Given the description of an element on the screen output the (x, y) to click on. 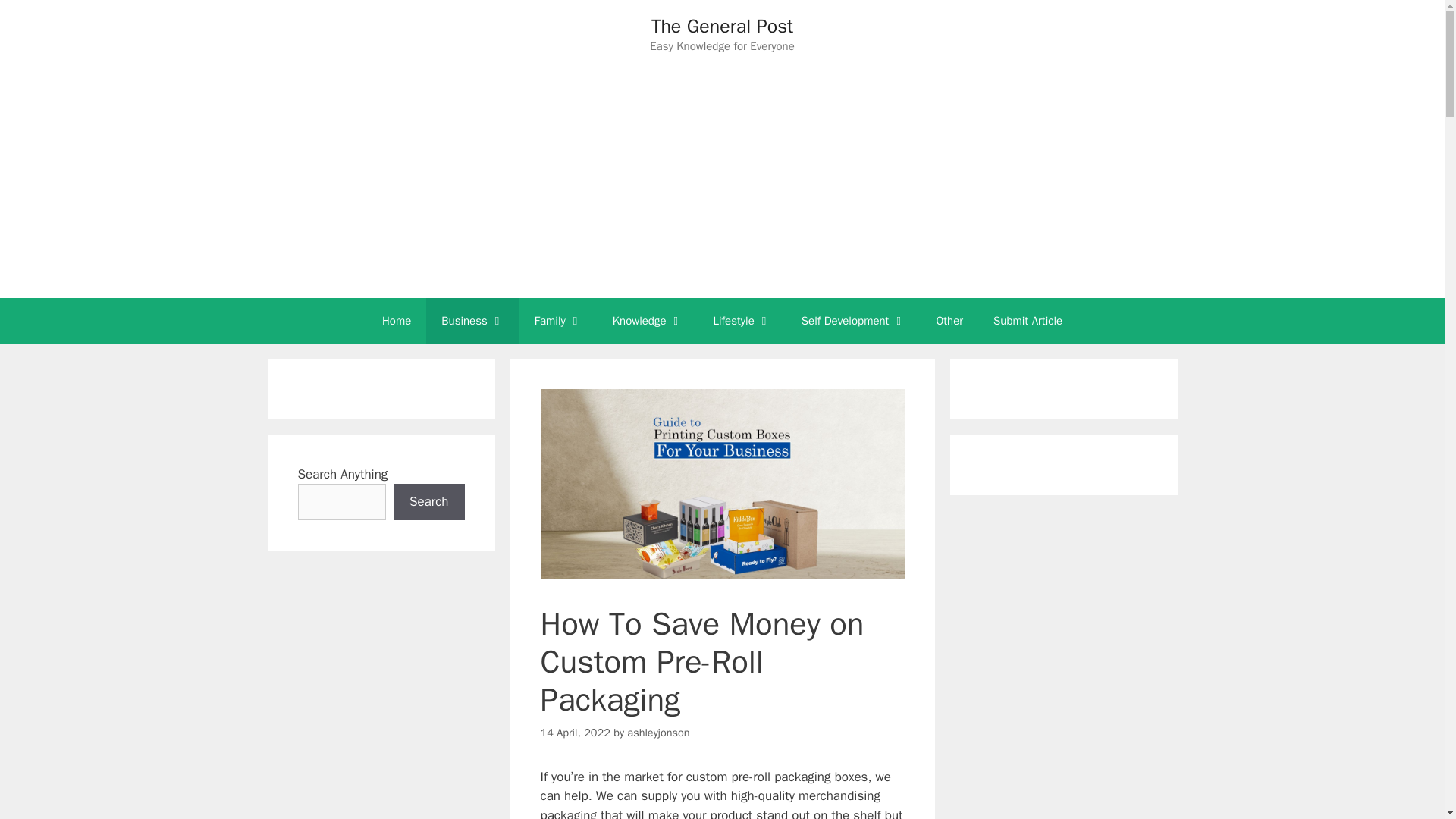
Home (396, 320)
View all posts by ashleyjonson (657, 732)
Lifestyle (742, 320)
ashleyjonson (657, 732)
Other (949, 320)
The General Post (721, 25)
Knowledge (647, 320)
Business (472, 320)
Family (557, 320)
Self Development (853, 320)
